Given the description of an element on the screen output the (x, y) to click on. 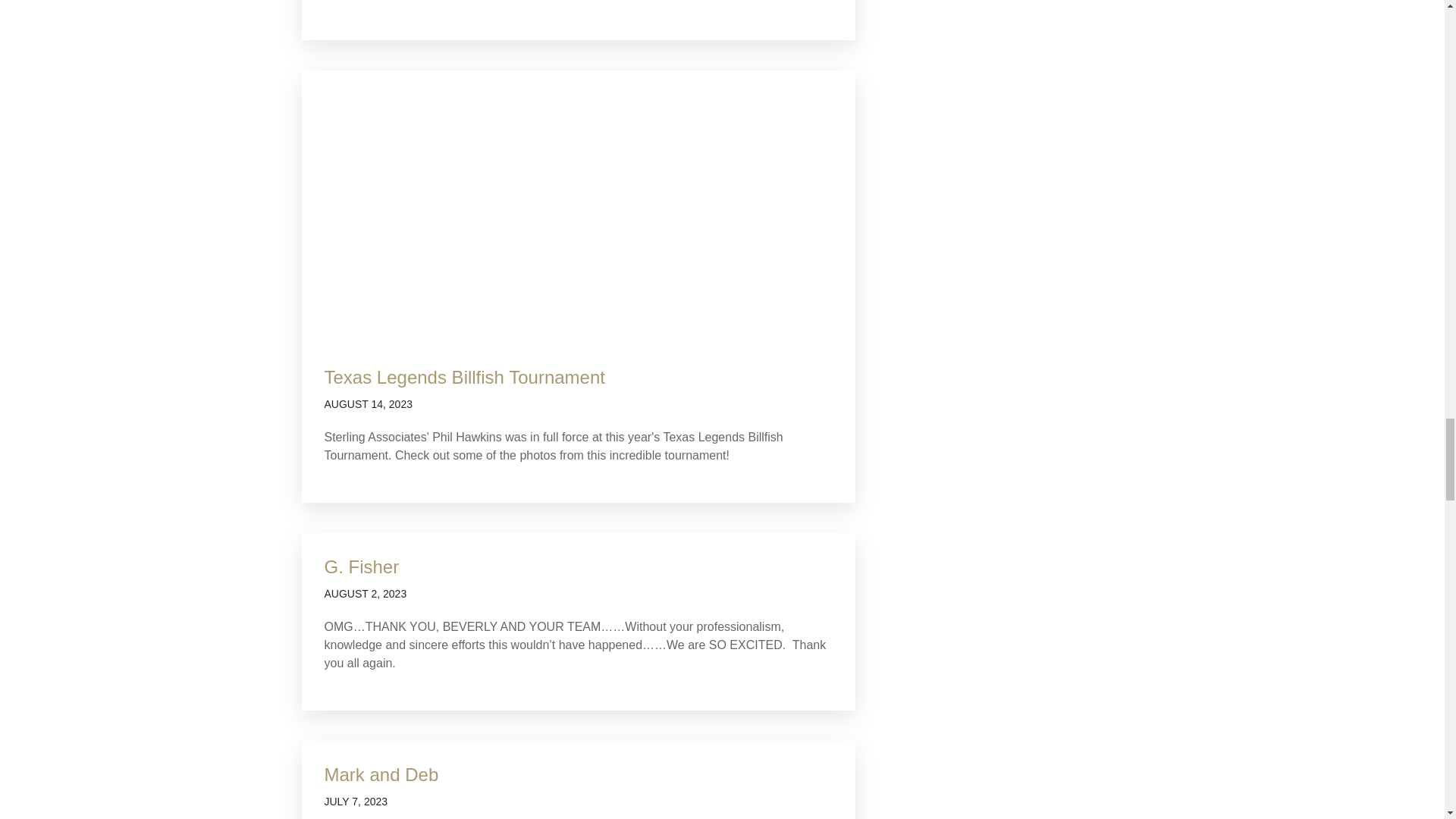
Mark and Deb (381, 774)
G. Fisher (361, 566)
Texas Legends Billfish Tournament (464, 376)
